Given the description of an element on the screen output the (x, y) to click on. 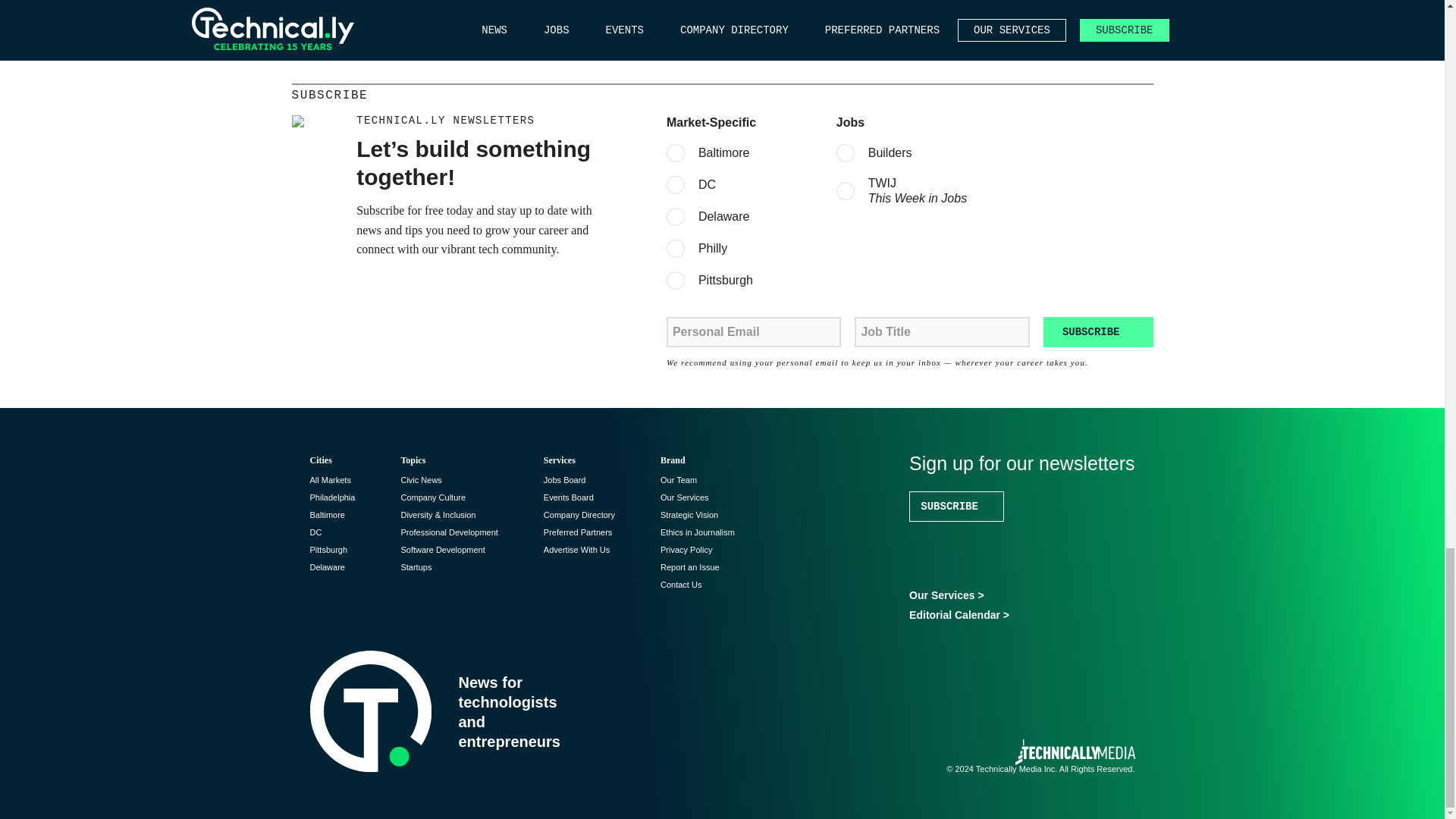
SUBSCRIBE (1098, 331)
OUR SERVICES (435, 1)
PREFERRED PARTNERS (594, 1)
THE JOURNALISM FUND (754, 1)
Pittsburgh (327, 549)
Philadelphia (331, 497)
Baltimore (325, 514)
DC (314, 532)
All Markets (329, 479)
